Given the description of an element on the screen output the (x, y) to click on. 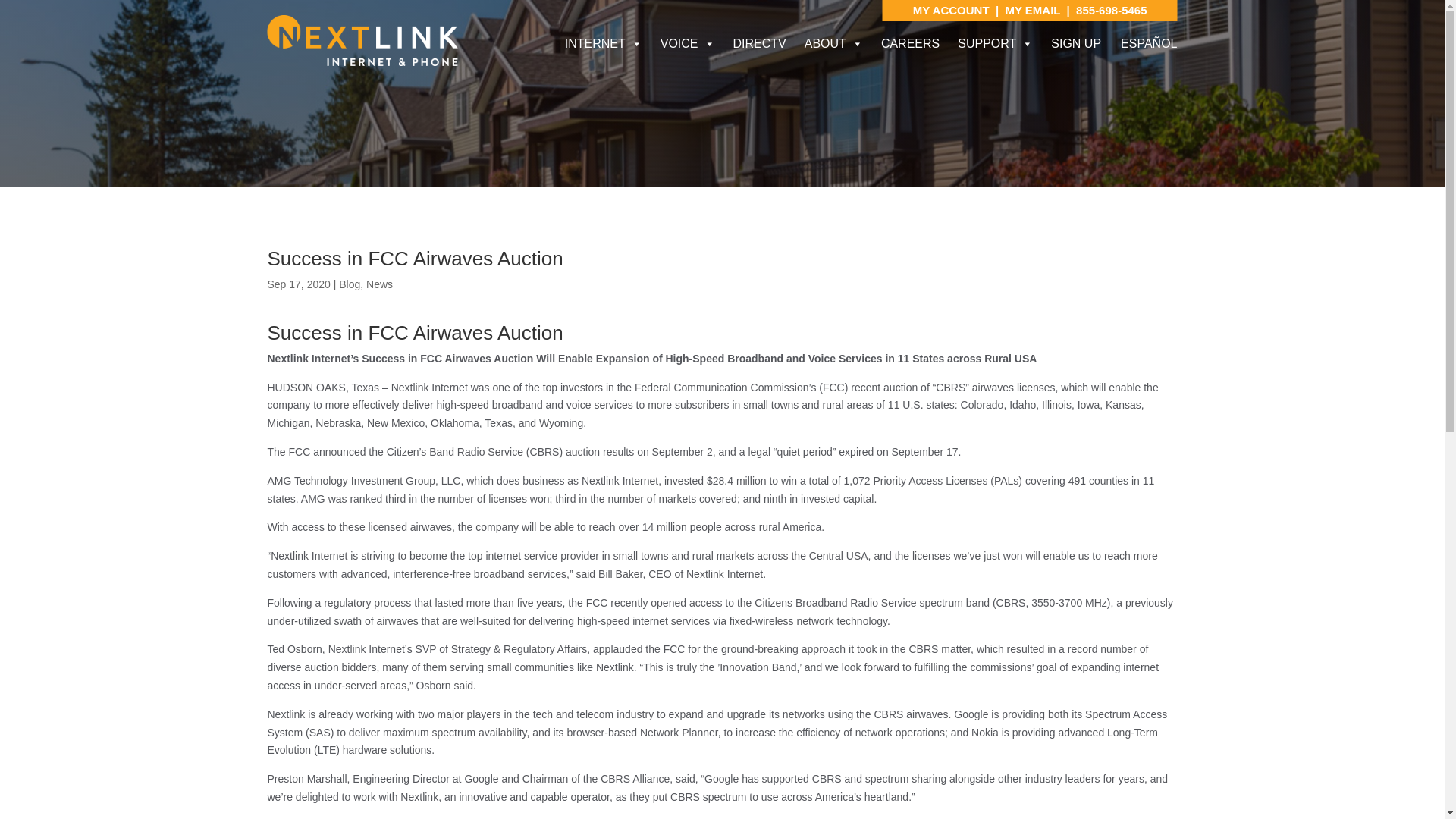
CAREERS (910, 43)
SIGN UP (1075, 43)
ABOUT (833, 43)
DIRECTV (758, 43)
MY EMAIL (1031, 10)
INTERNET (603, 43)
nextlink-internet-and-phone-logo (361, 40)
Spanish (1148, 43)
VOICE (686, 43)
MY ACCOUNT  (952, 10)
SUPPORT (995, 43)
